Given the description of an element on the screen output the (x, y) to click on. 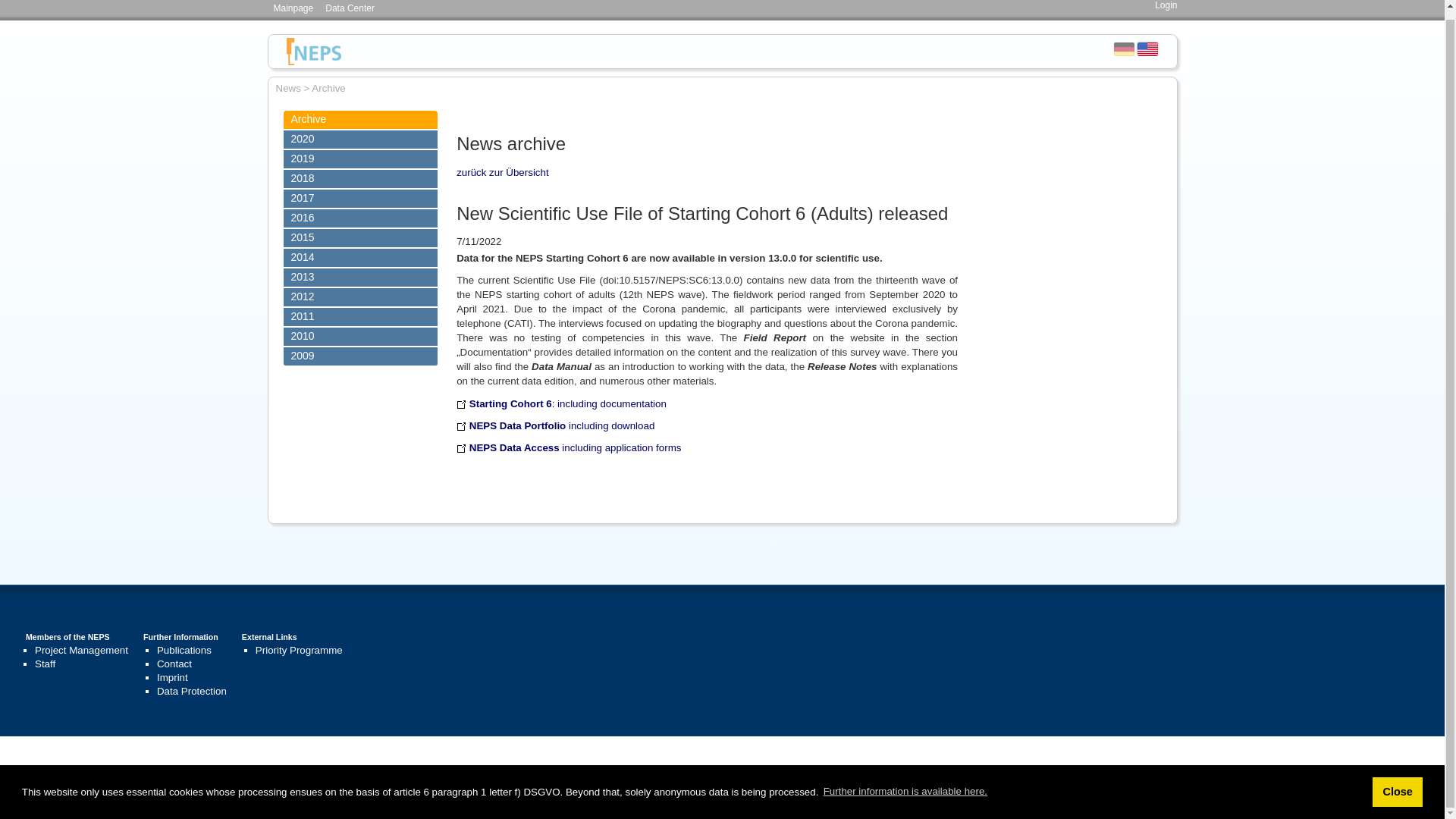
Further information is available here. (905, 783)
Mainpage (292, 9)
Close (1397, 783)
Login (1165, 5)
Data Center (349, 9)
